Given the description of an element on the screen output the (x, y) to click on. 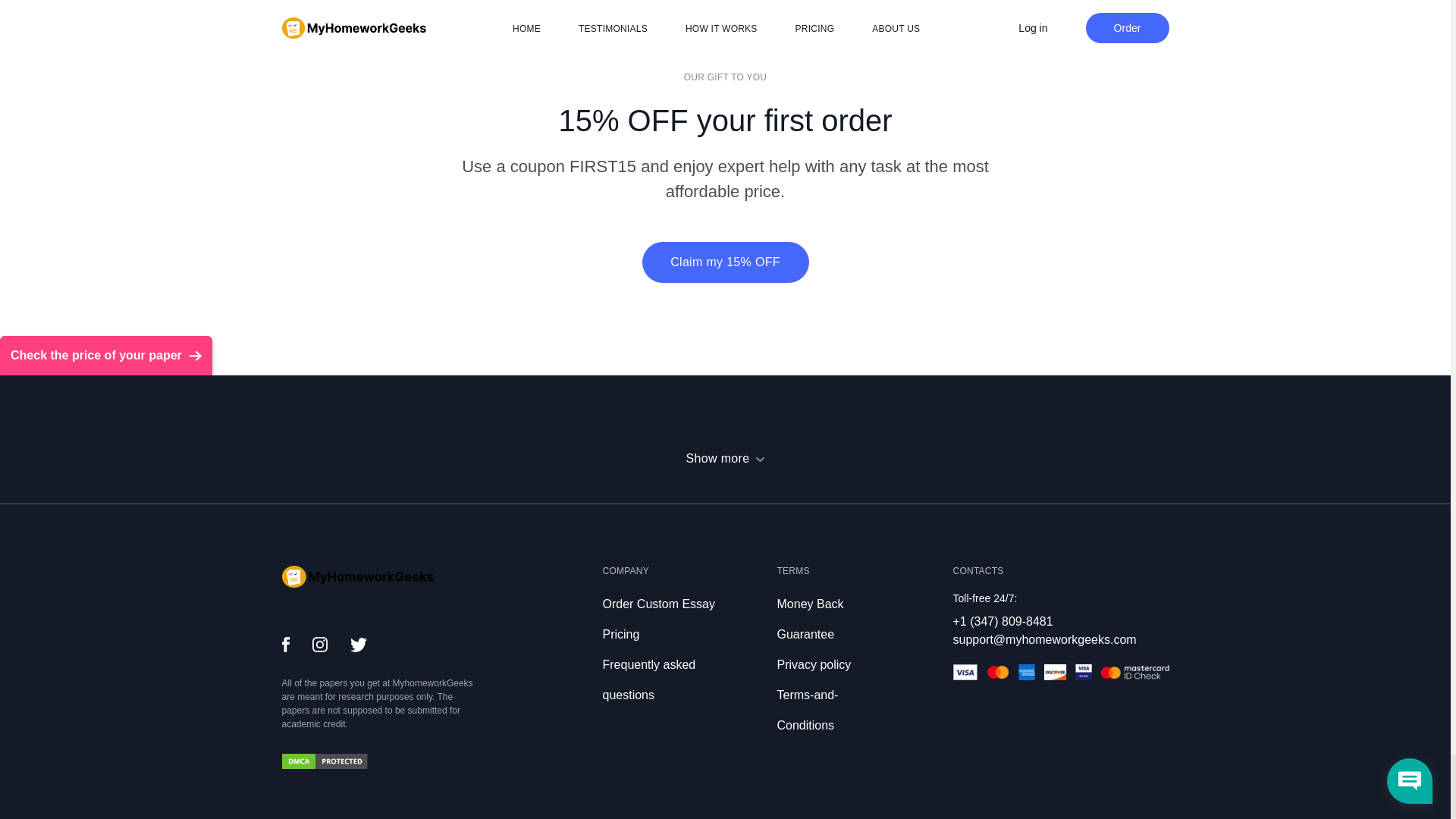
Money Back Guarantee (809, 618)
Privacy policy (813, 664)
Frequently asked questions (648, 679)
Show more (725, 458)
Terms-and-Conditions (807, 710)
Order Custom Essay (658, 603)
Pricing (620, 634)
